Given the description of an element on the screen output the (x, y) to click on. 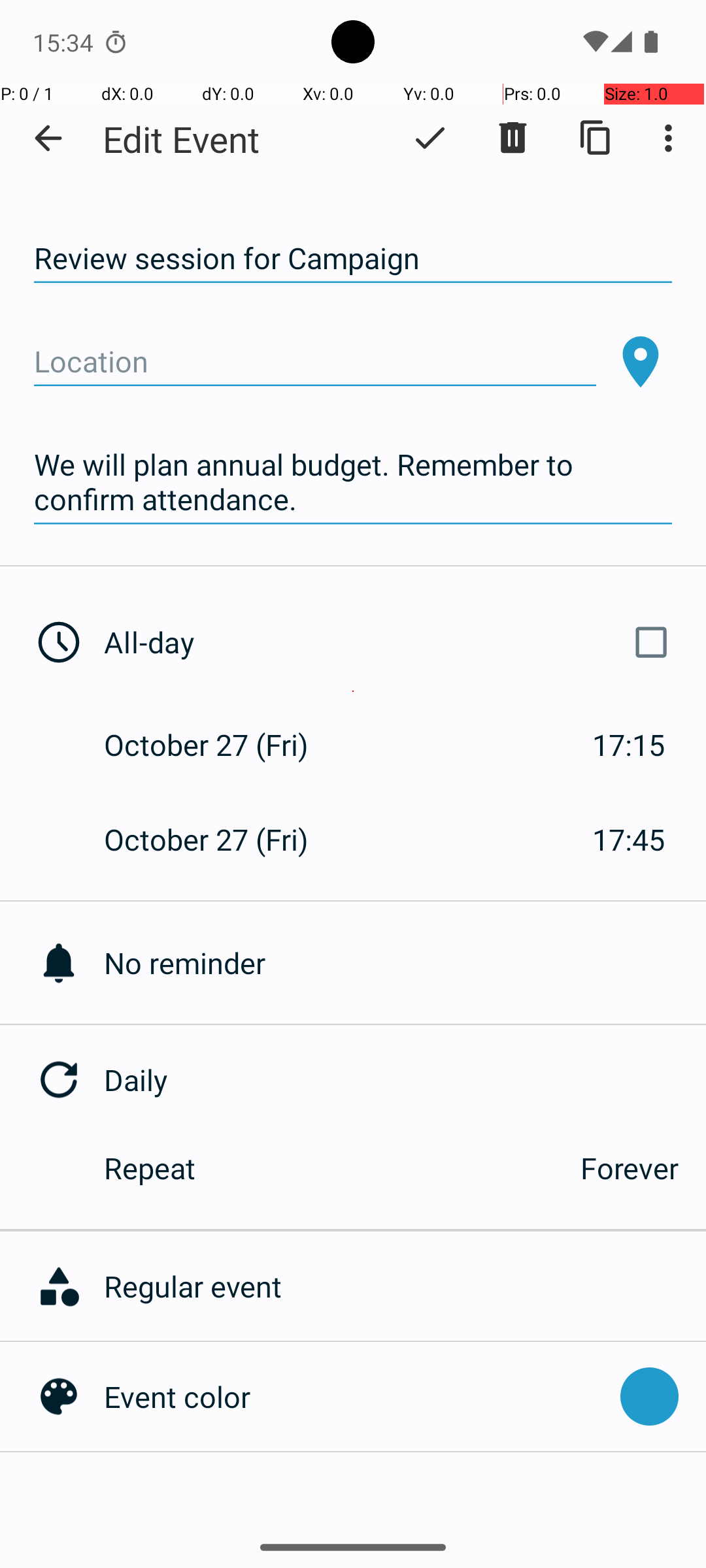
We will plan annual budget. Remember to confirm attendance. Element type: android.widget.EditText (352, 482)
October 27 (Fri) Element type: android.widget.TextView (219, 744)
17:15 Element type: android.widget.TextView (628, 744)
17:45 Element type: android.widget.TextView (628, 838)
